Given the description of an element on the screen output the (x, y) to click on. 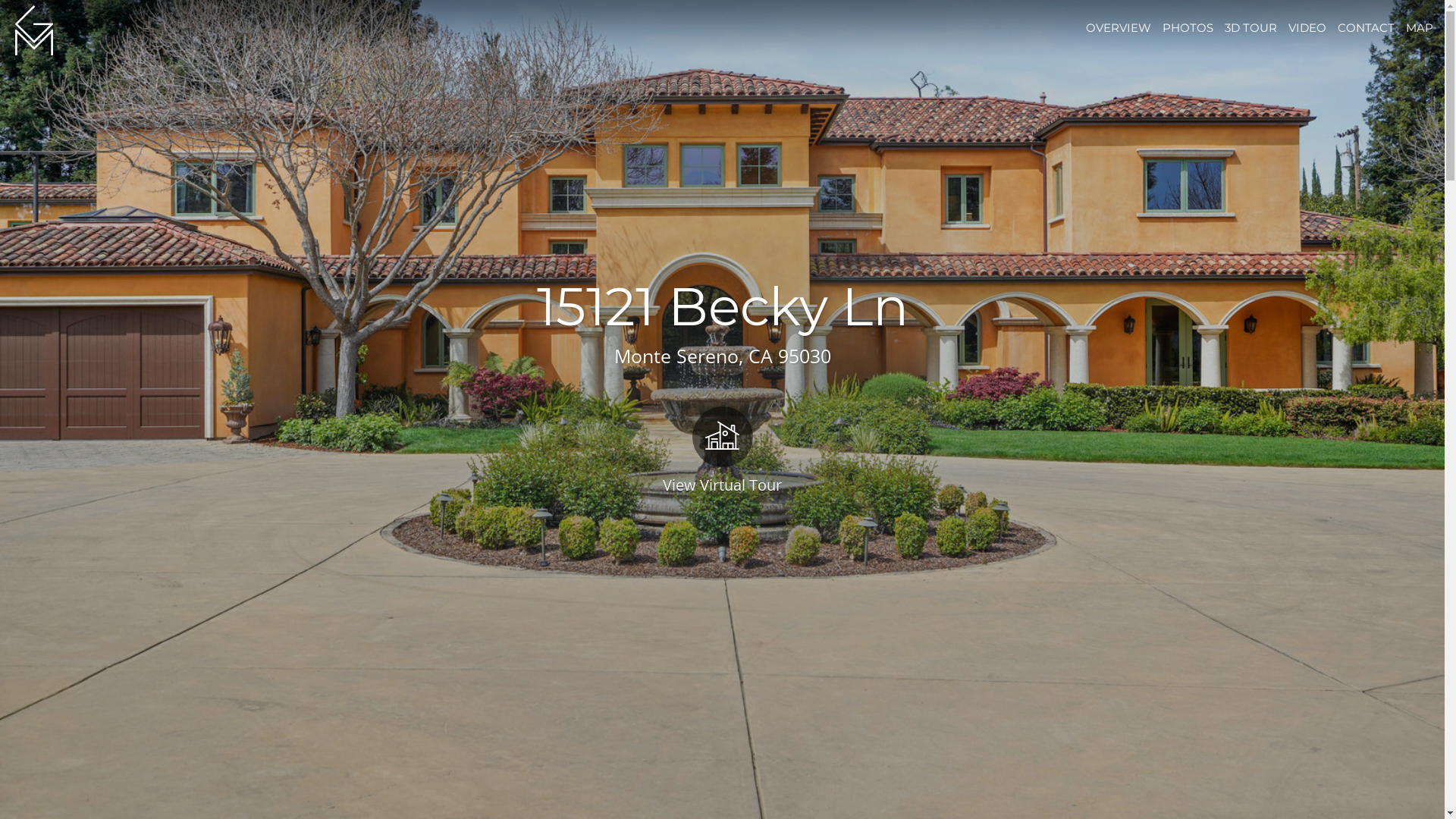
View Virtual Tour Element type: text (722, 448)
3D TOUR Element type: text (1250, 27)
OVERVIEW Element type: text (1118, 27)
VIDEO Element type: text (1307, 27)
MAP Element type: text (1419, 27)
PHOTOS Element type: text (1187, 27)
CONTACT Element type: text (1365, 27)
